Given the description of an element on the screen output the (x, y) to click on. 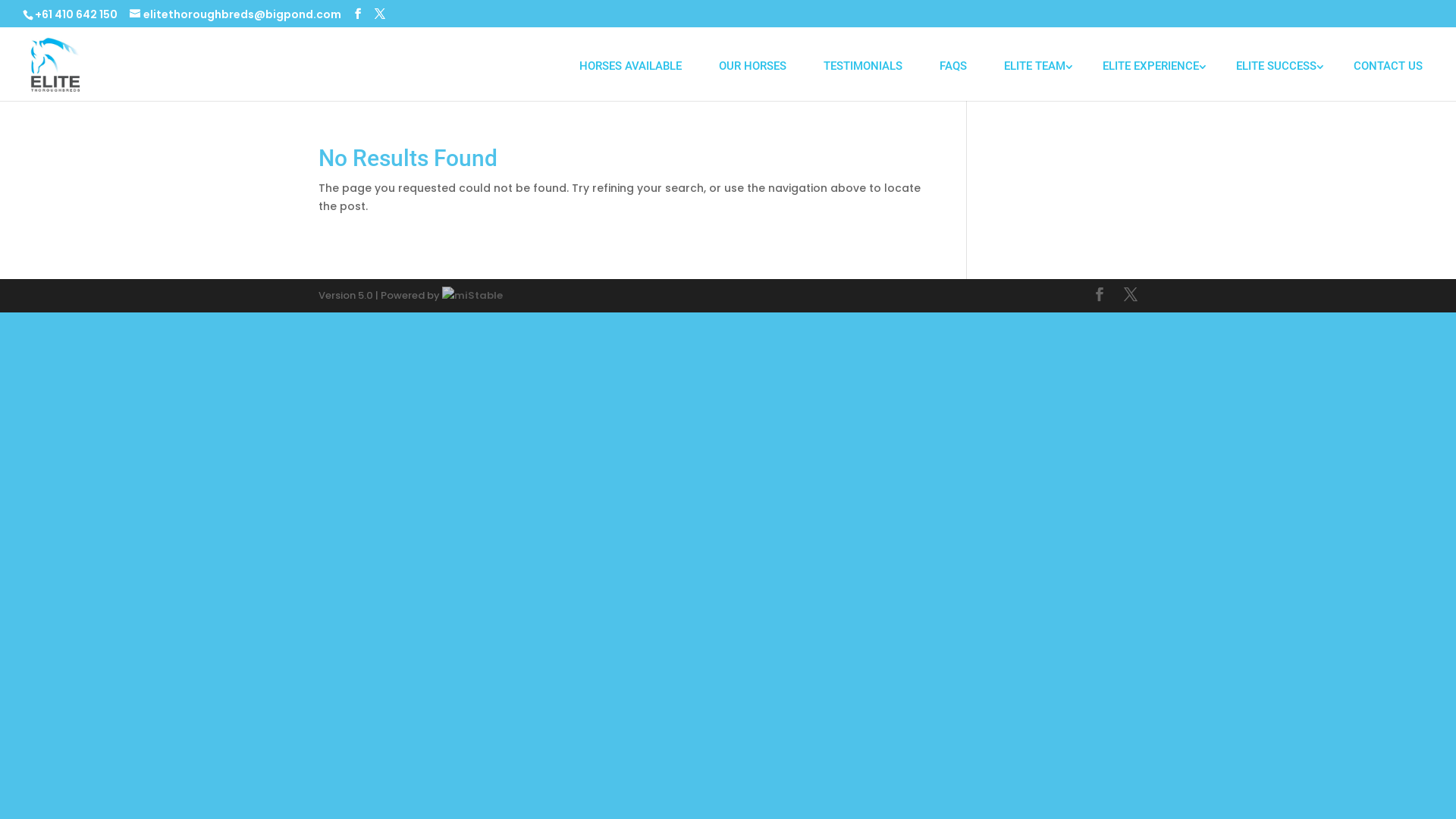
Horse Management Software Element type: hover (472, 295)
OUR HORSES Element type: text (752, 65)
FAQS Element type: text (952, 65)
ELITE EXPERIENCE Element type: text (1150, 65)
HORSES AVAILABLE Element type: text (630, 65)
+61 410 642 150 Element type: text (75, 13)
ELITE SUCCESS Element type: text (1275, 65)
TESTIMONIALS Element type: text (862, 65)
CONTACT US Element type: text (1387, 65)
elitethoroughbreds@bigpond.com Element type: text (235, 13)
ELITE TEAM Element type: text (1034, 65)
